Given the description of an element on the screen output the (x, y) to click on. 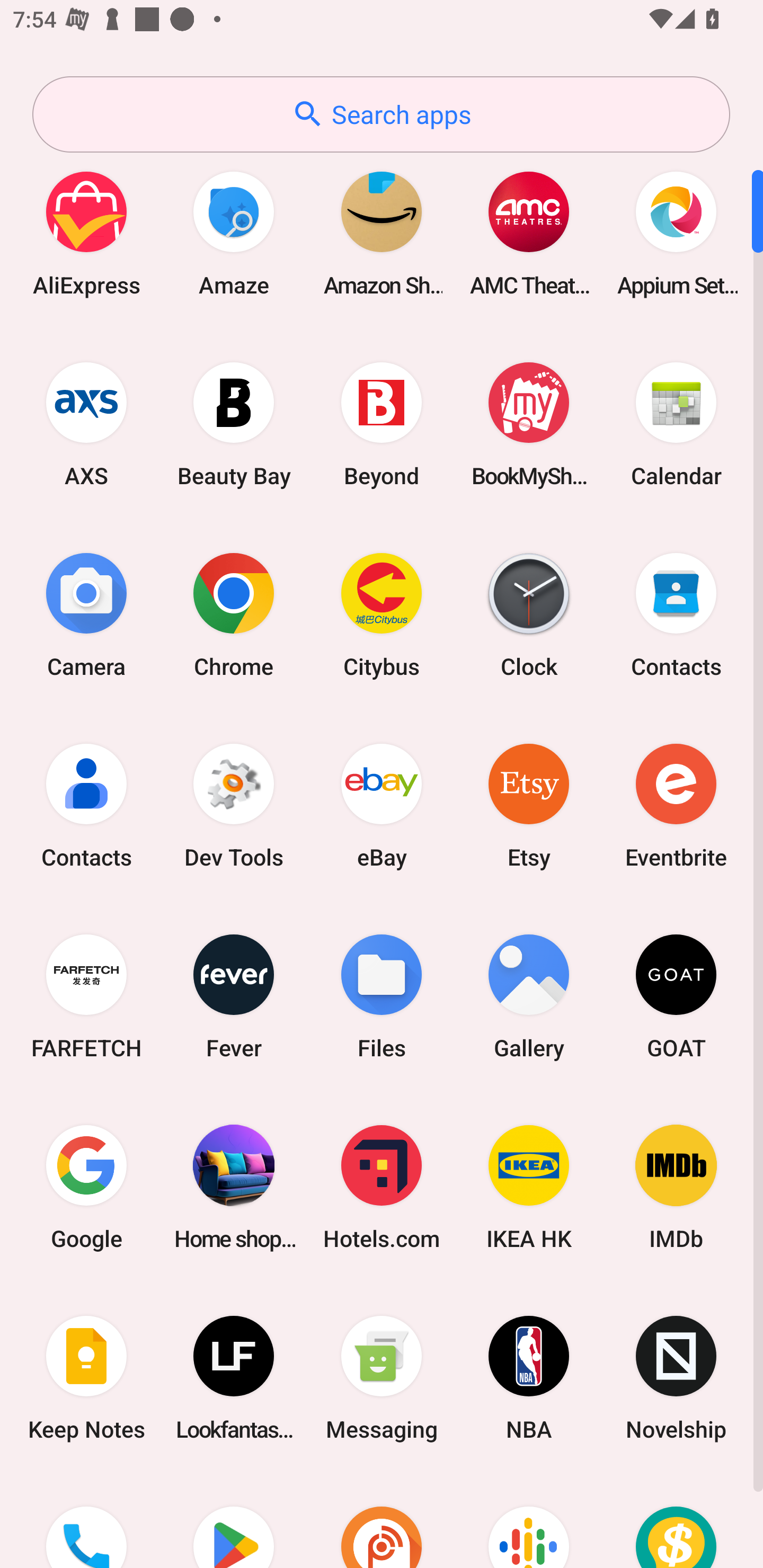
  Search apps (381, 114)
AliExpress (86, 233)
Amaze (233, 233)
Amazon Shopping (381, 233)
AMC Theatres (528, 233)
Appium Settings (676, 233)
AXS (86, 424)
Beauty Bay (233, 424)
Beyond (381, 424)
BookMyShow (528, 424)
Calendar (676, 424)
Camera (86, 614)
Chrome (233, 614)
Citybus (381, 614)
Clock (528, 614)
Contacts (676, 614)
Contacts (86, 805)
Dev Tools (233, 805)
eBay (381, 805)
Etsy (528, 805)
Eventbrite (676, 805)
FARFETCH (86, 996)
Fever (233, 996)
Files (381, 996)
Gallery (528, 996)
GOAT (676, 996)
Google (86, 1186)
Home shopping (233, 1186)
Hotels.com (381, 1186)
IKEA HK (528, 1186)
IMDb (676, 1186)
Keep Notes (86, 1377)
Lookfantastic (233, 1377)
Messaging (381, 1377)
NBA (528, 1377)
Novelship (676, 1377)
Phone (86, 1520)
Play Store (233, 1520)
Podcast Addict (381, 1520)
Podcasts (528, 1520)
Price (676, 1520)
